Given the description of an element on the screen output the (x, y) to click on. 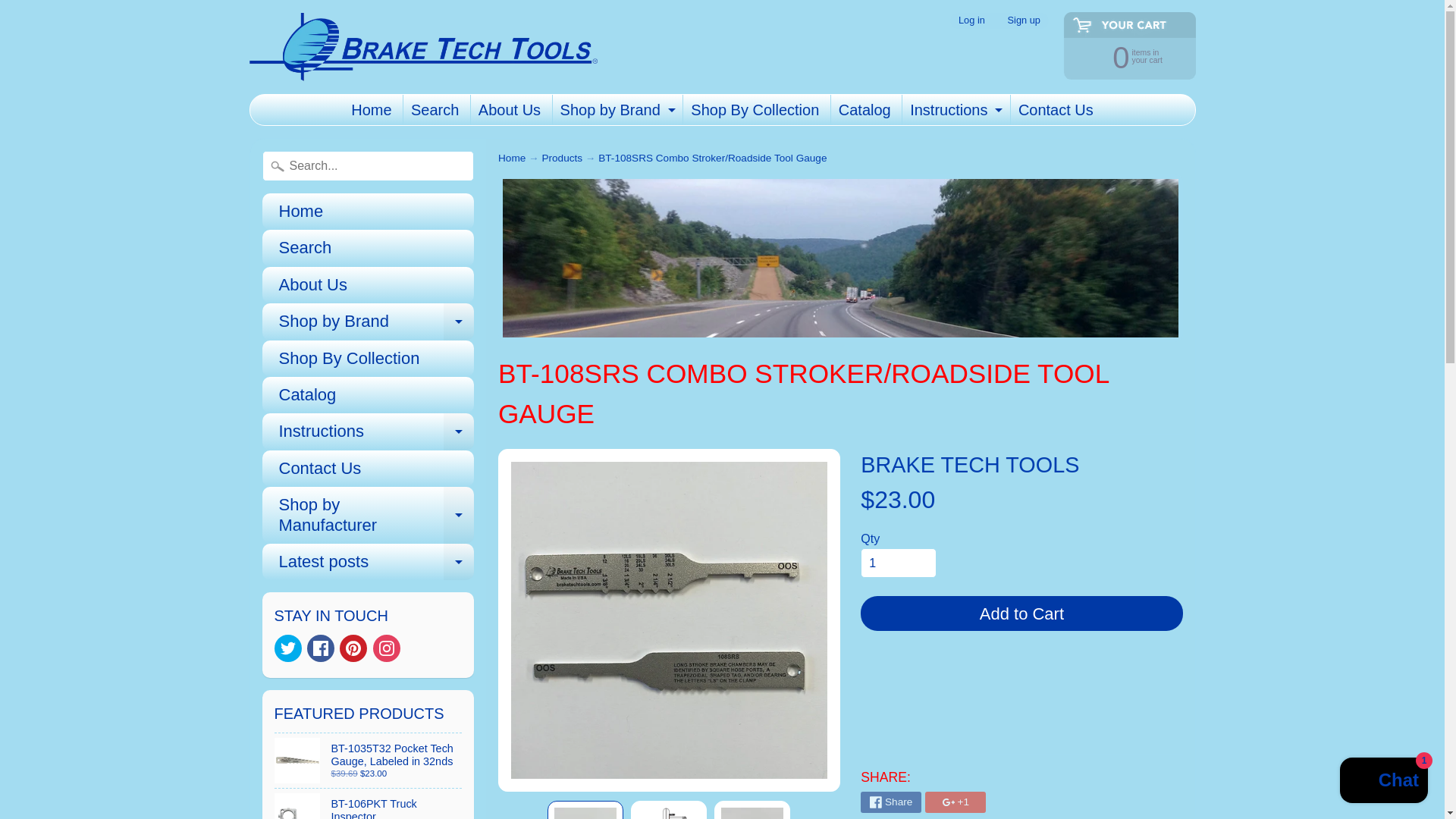
Search (434, 110)
BT-106PKT Truck Inspector (369, 803)
BT-1035T32 Pocket Tech Gauge, Labeled in 32nds (369, 760)
1 (898, 562)
Log in (970, 20)
Shop By Collection (1122, 56)
Home (754, 110)
Pinterest (368, 211)
Sign up (352, 647)
Instagram (1024, 20)
Home (616, 110)
About Us (386, 647)
Contact Us (370, 110)
